Given the description of an element on the screen output the (x, y) to click on. 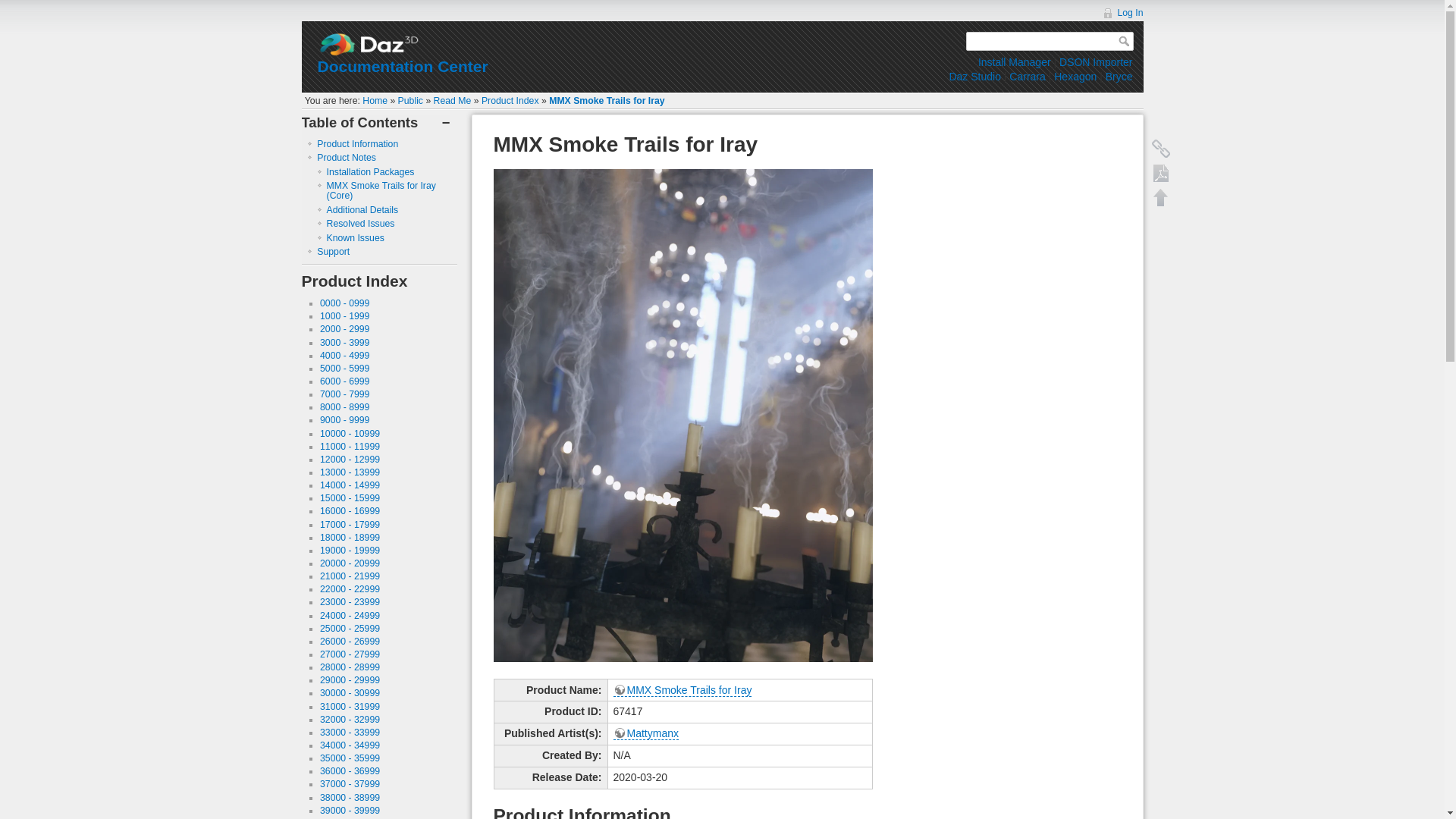
Search (1125, 40)
Known Issues (355, 236)
Resolved Issues (360, 223)
Installation Packages (370, 172)
public:software:carrara:start (1027, 76)
Read Me (452, 100)
4000 - 4999 (344, 355)
public:start (410, 100)
5000 - 5999 (344, 368)
Public (410, 100)
0000 - 0999 (344, 303)
Hexagon (1075, 76)
public:software:hexagon:start (1075, 76)
8000 - 8999 (344, 407)
Product Index (509, 100)
